Given the description of an element on the screen output the (x, y) to click on. 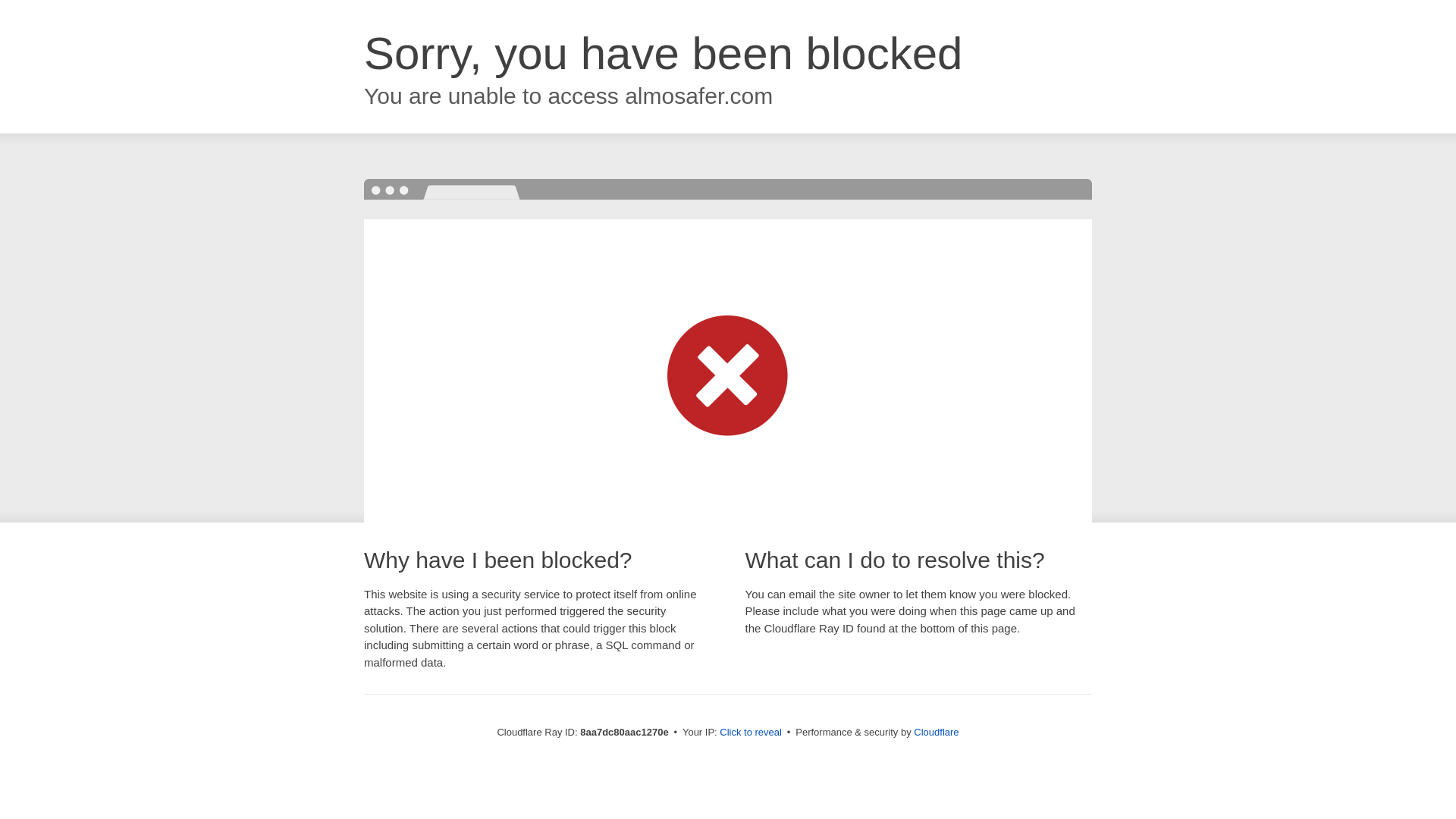
Cloudflare (936, 731)
Click to reveal (750, 732)
